Given the description of an element on the screen output the (x, y) to click on. 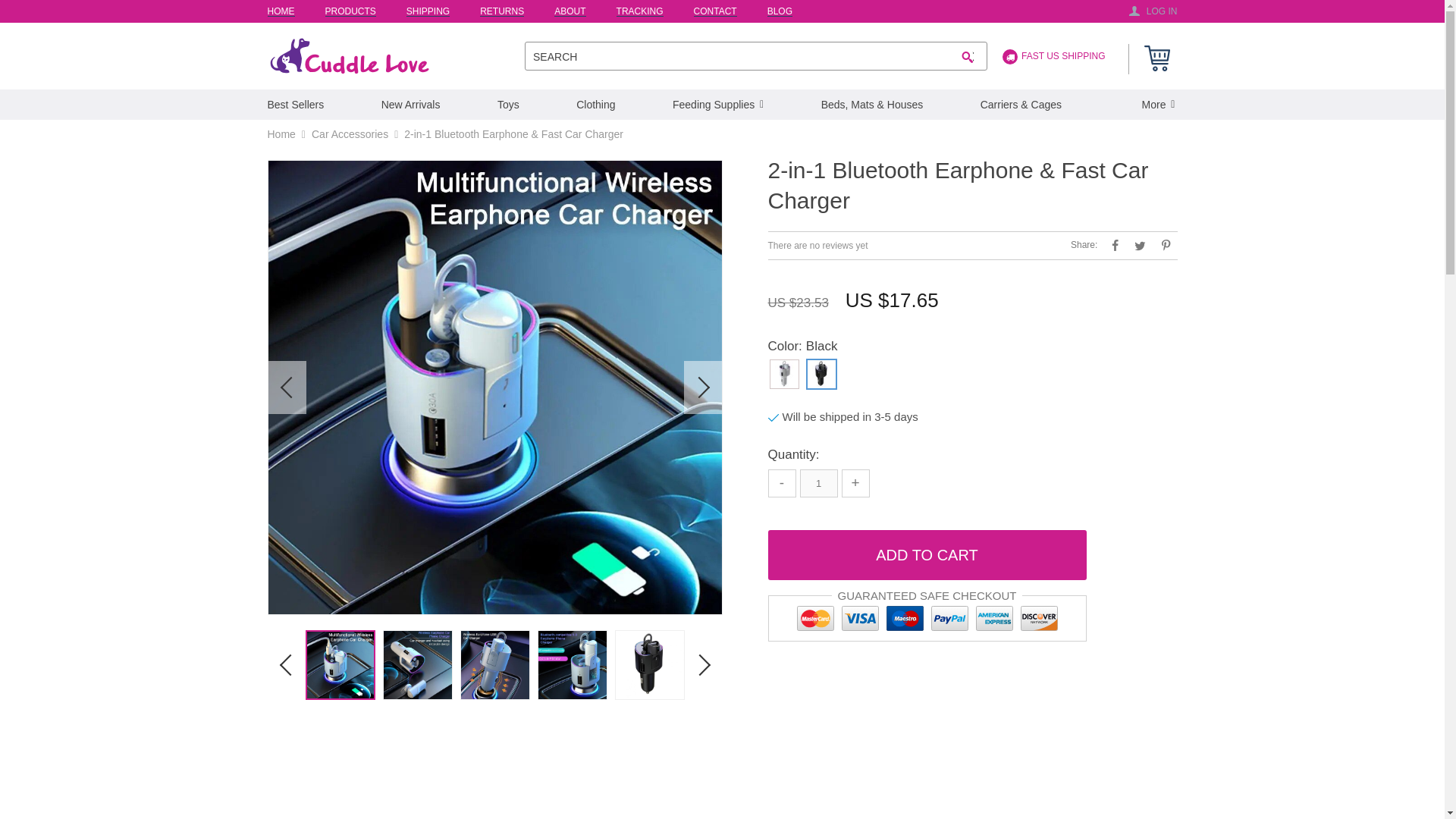
1 (818, 483)
